Given the description of an element on the screen output the (x, y) to click on. 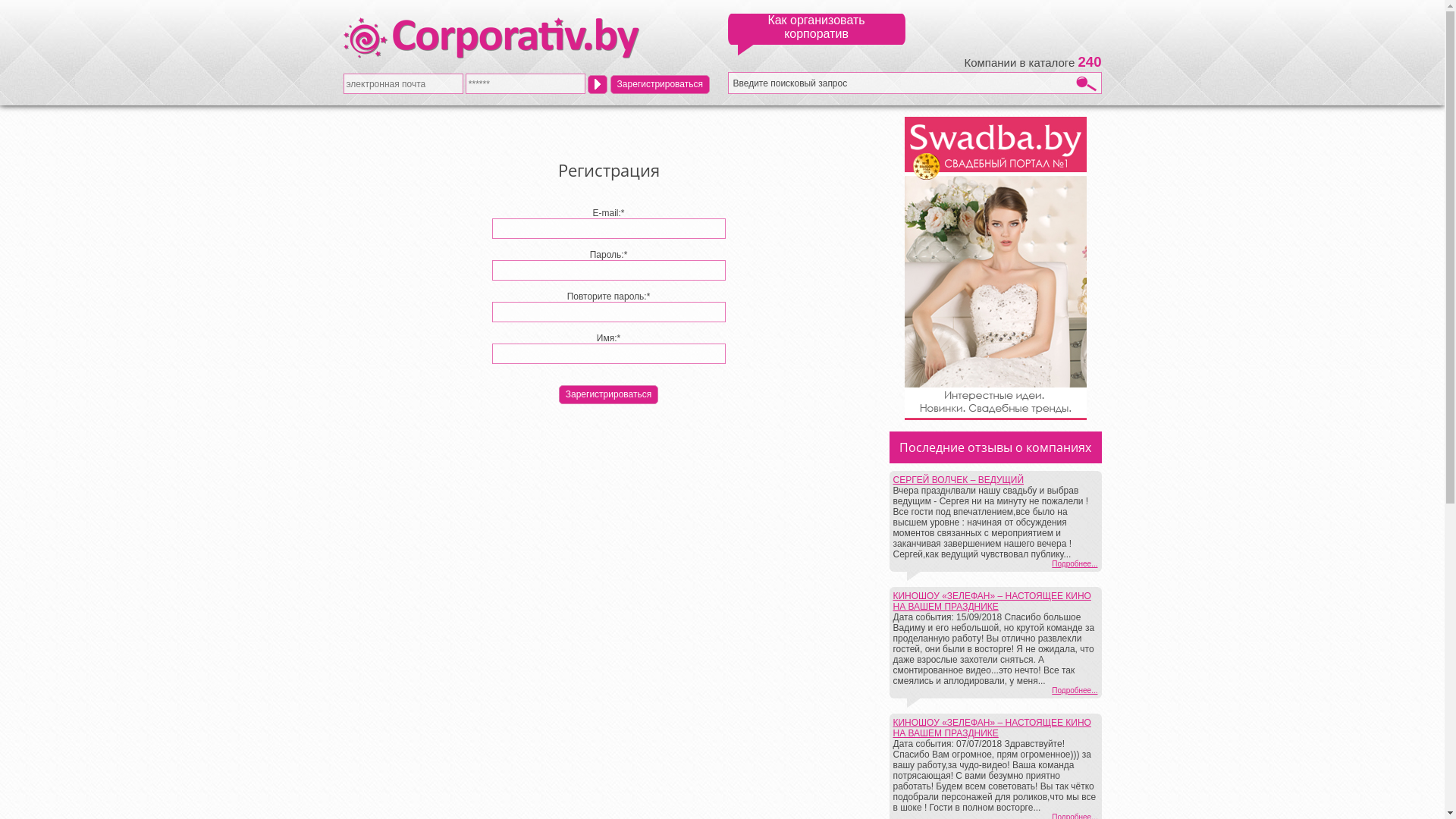
  Element type: text (597, 83)
